Given the description of an element on the screen output the (x, y) to click on. 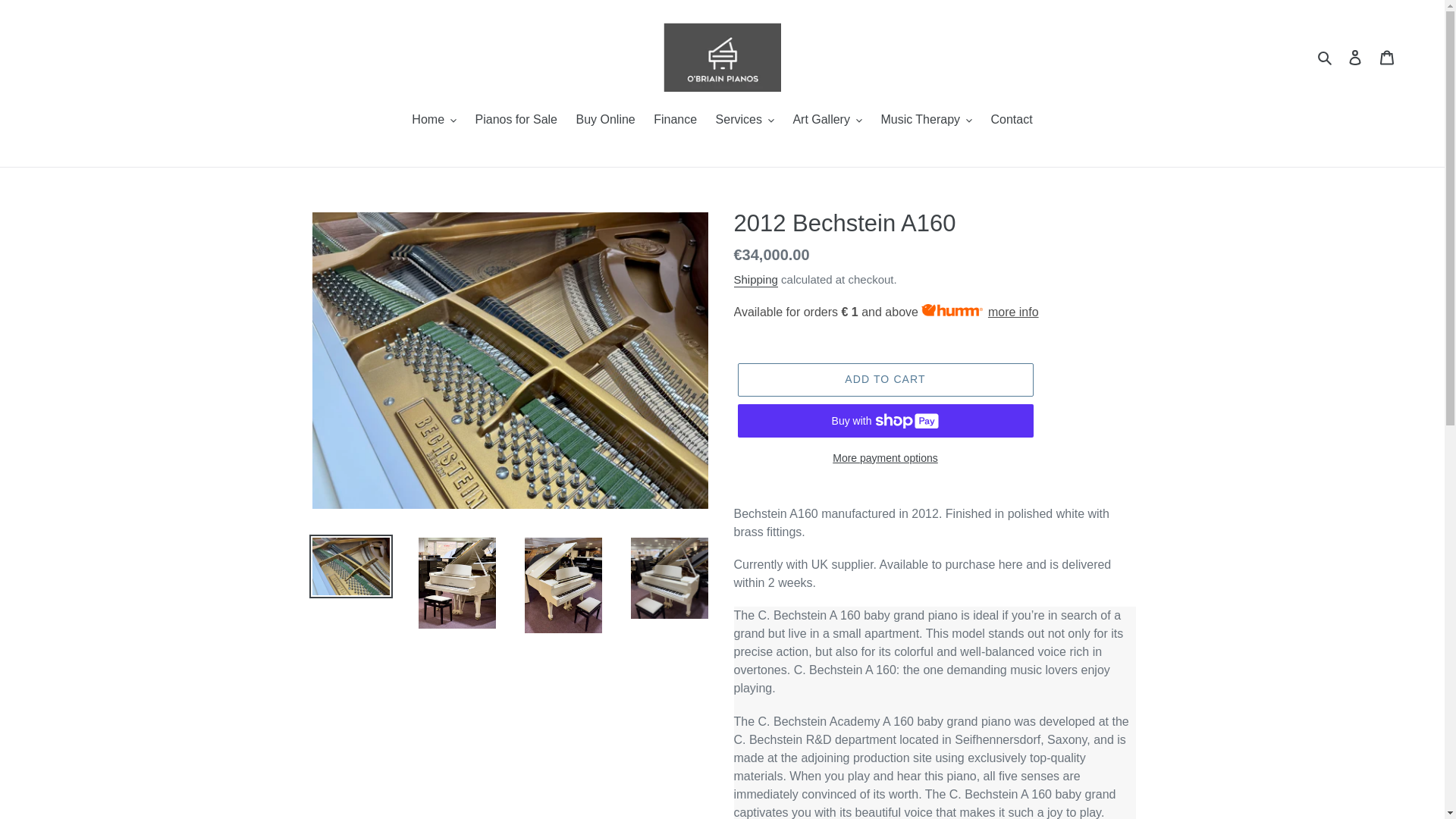
Search (1326, 56)
Cart (1387, 57)
Log in (1355, 57)
